Given the description of an element on the screen output the (x, y) to click on. 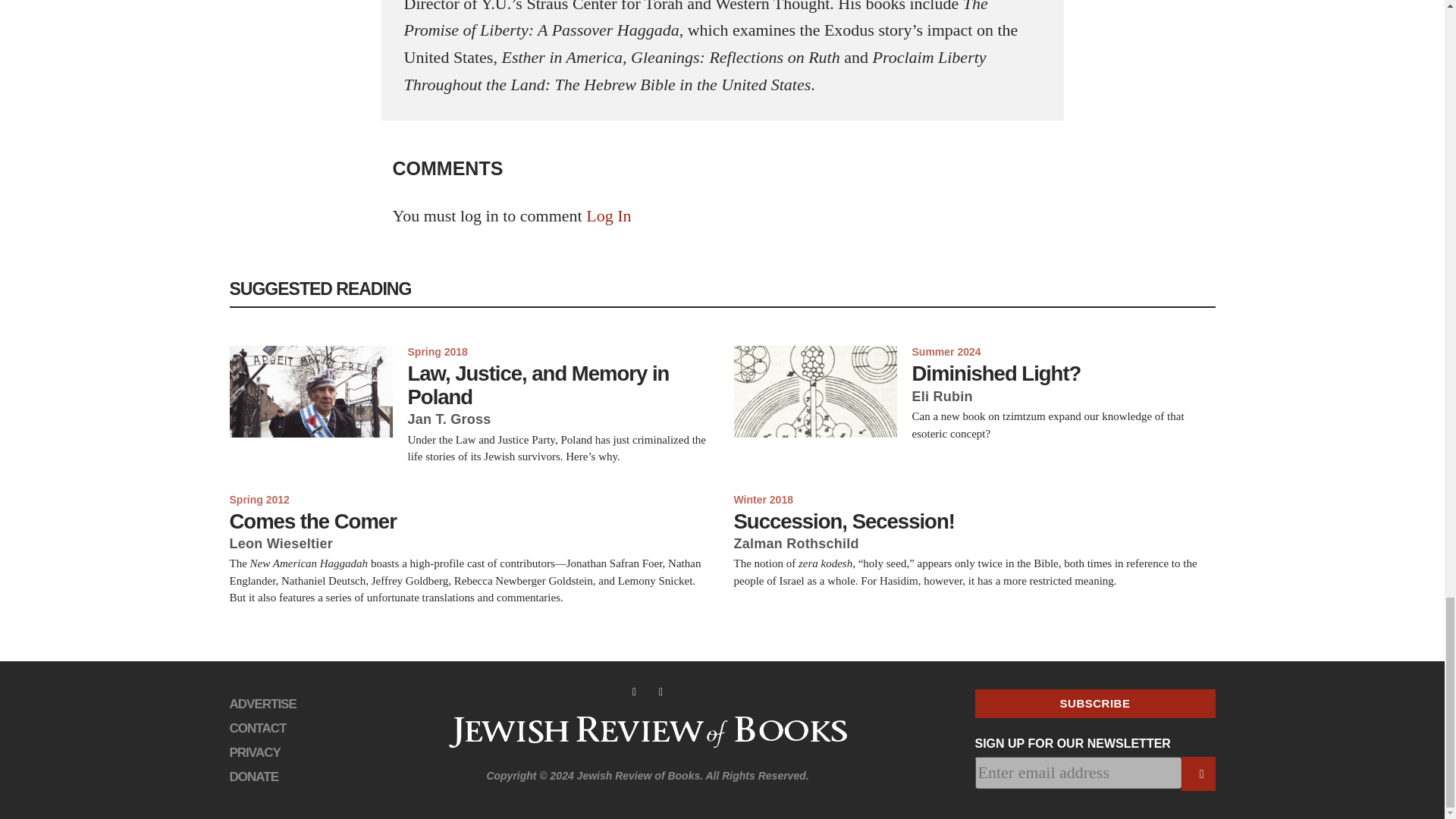
Jan T. Gross (449, 418)
Spring 2018 (437, 349)
Log In (608, 215)
Law, Justice, and Memory in Poland (559, 385)
Summer 2024 (945, 349)
Sign Up (1197, 773)
